Given the description of an element on the screen output the (x, y) to click on. 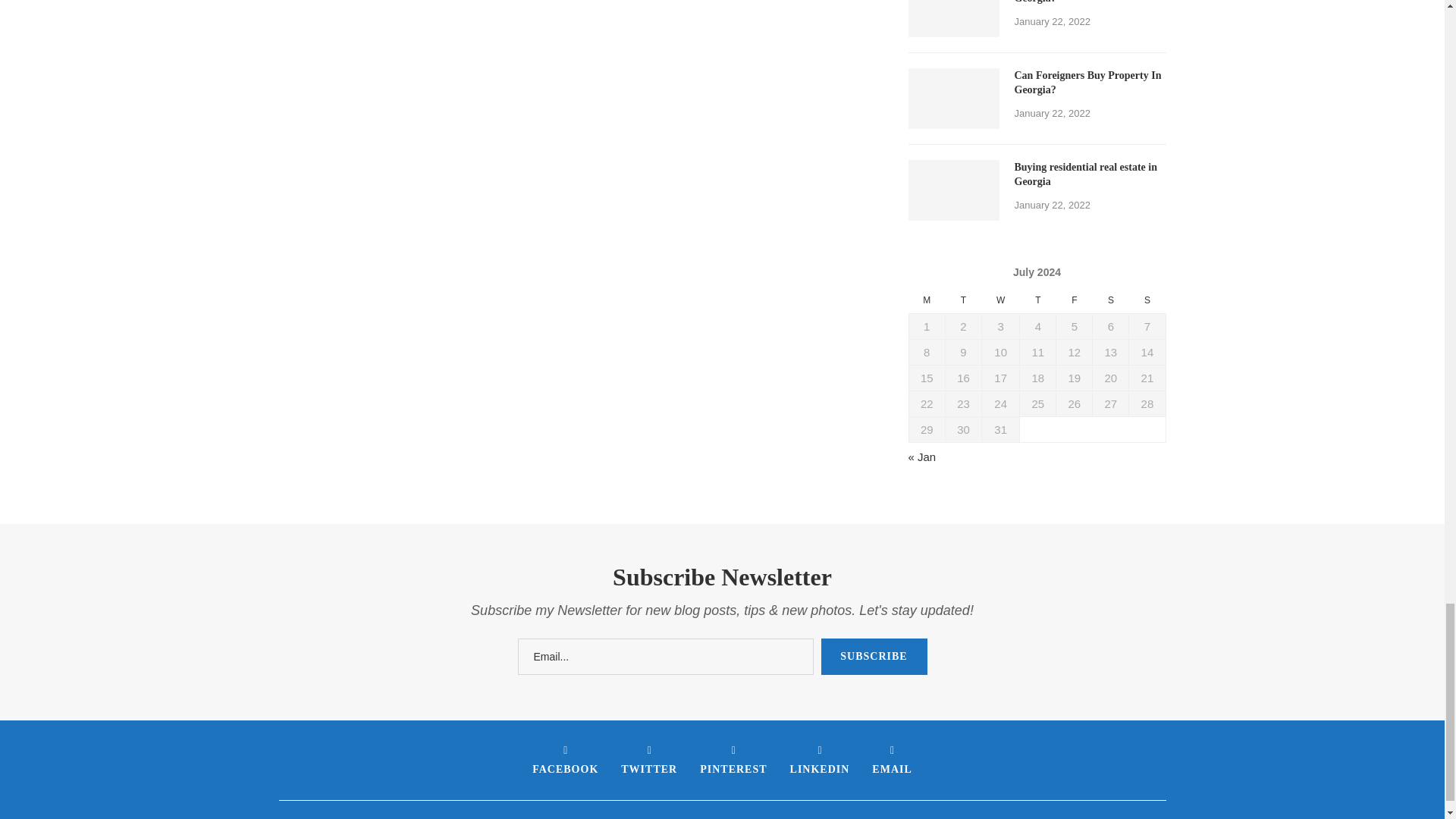
Subscribe (873, 656)
